Given the description of an element on the screen output the (x, y) to click on. 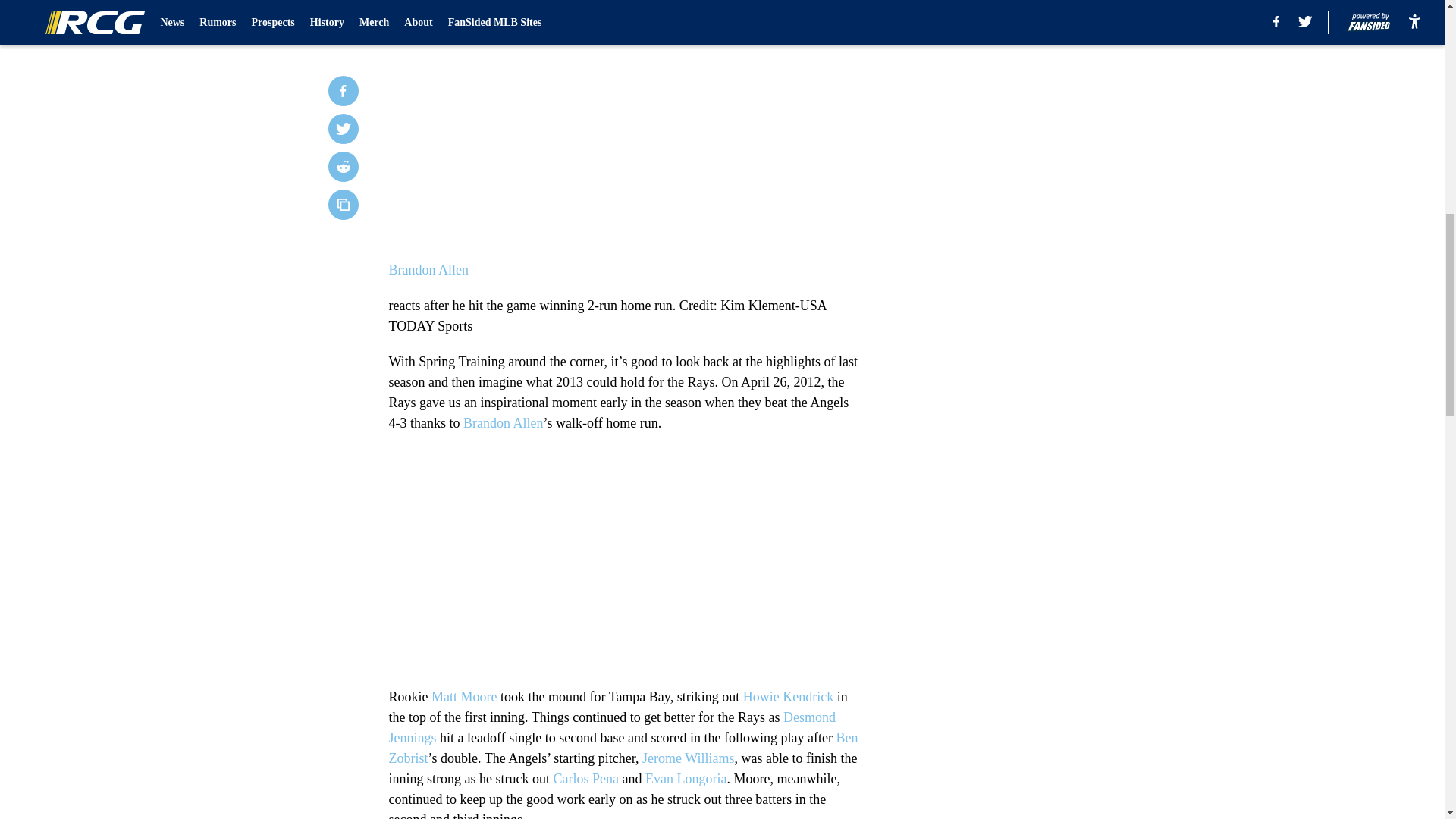
Howie Kendrick (787, 696)
Evan Longoria (685, 778)
Jerome Williams (687, 758)
Brandon Allen (428, 269)
Ben Zobrist (622, 747)
Carlos Pena (585, 778)
Desmond Jennings (611, 727)
Matt Moore (463, 696)
Brandon Allen (503, 422)
